Given the description of an element on the screen output the (x, y) to click on. 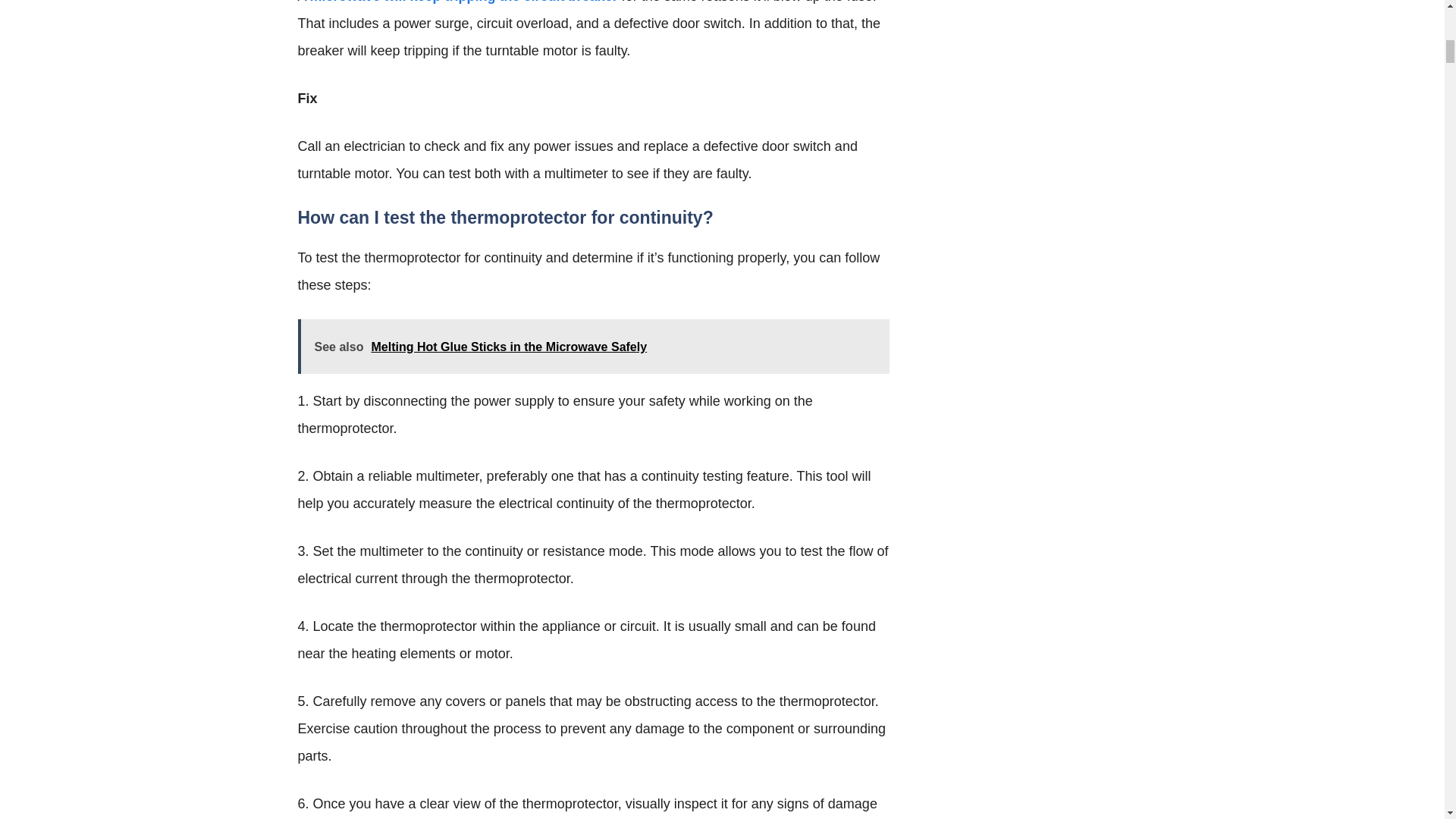
microwave will keep tripping the circuit breaker (463, 2)
See also  Melting Hot Glue Sticks in the Microwave Safely (592, 346)
